Given the description of an element on the screen output the (x, y) to click on. 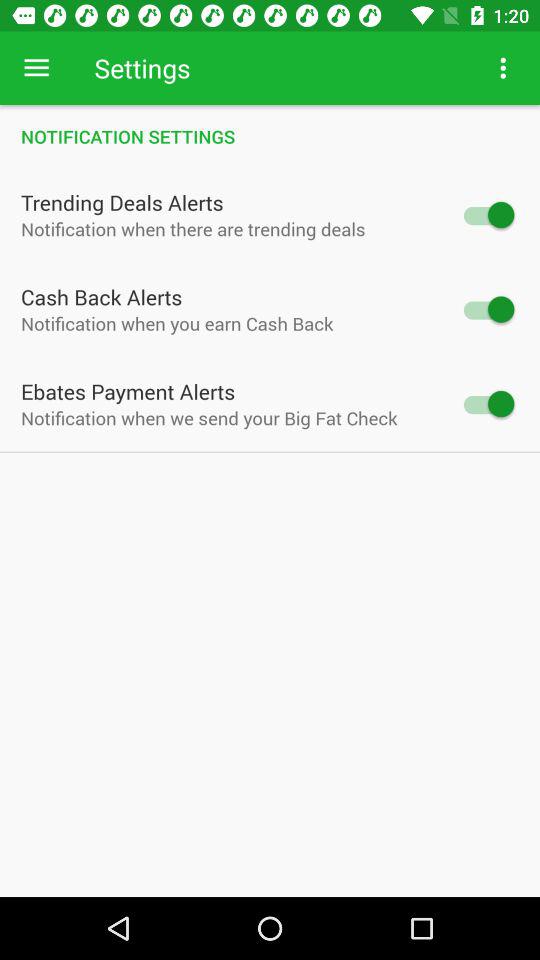
select icon below notification when we (270, 452)
